Given the description of an element on the screen output the (x, y) to click on. 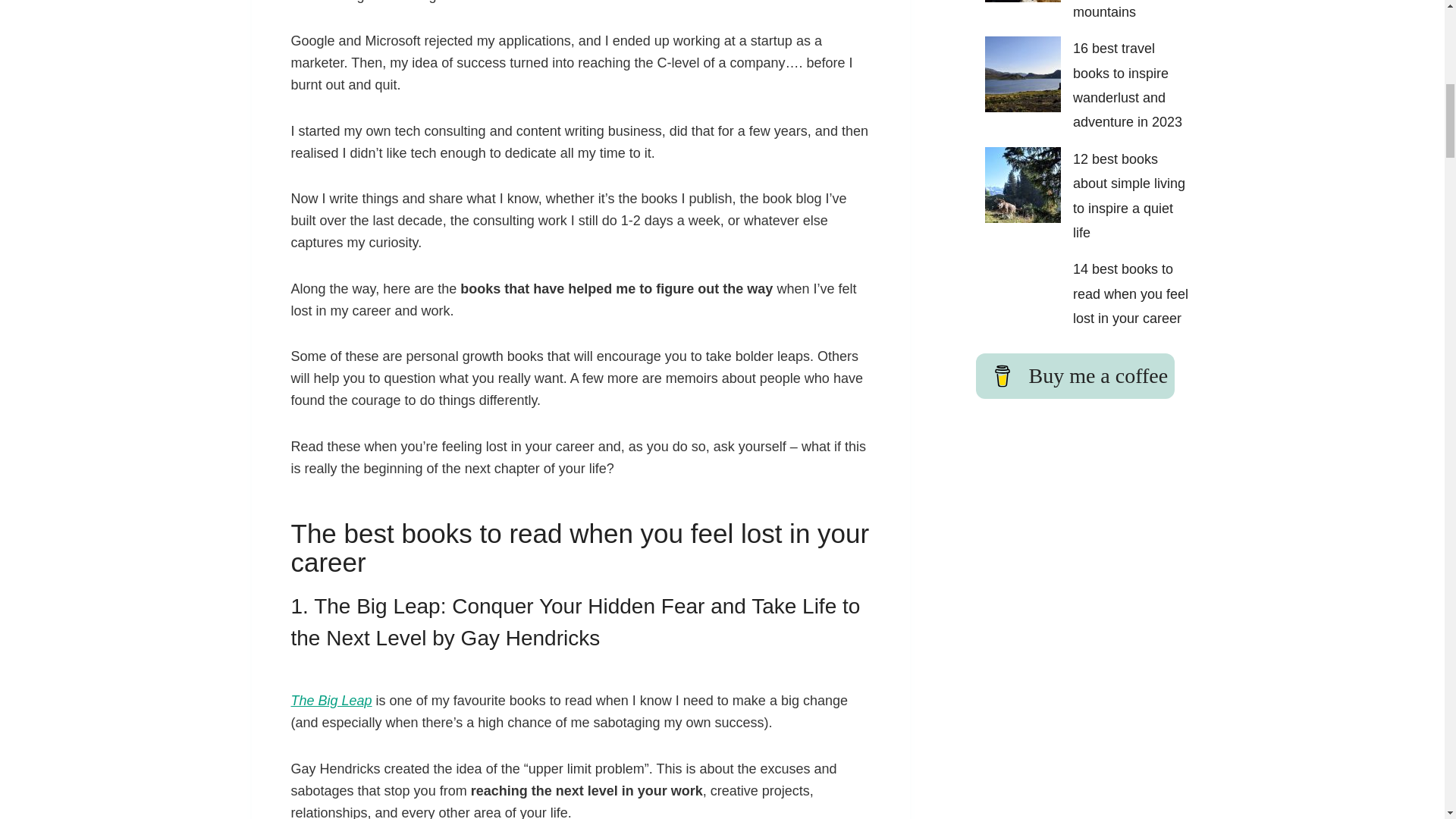
The Big Leap (331, 700)
